Given the description of an element on the screen output the (x, y) to click on. 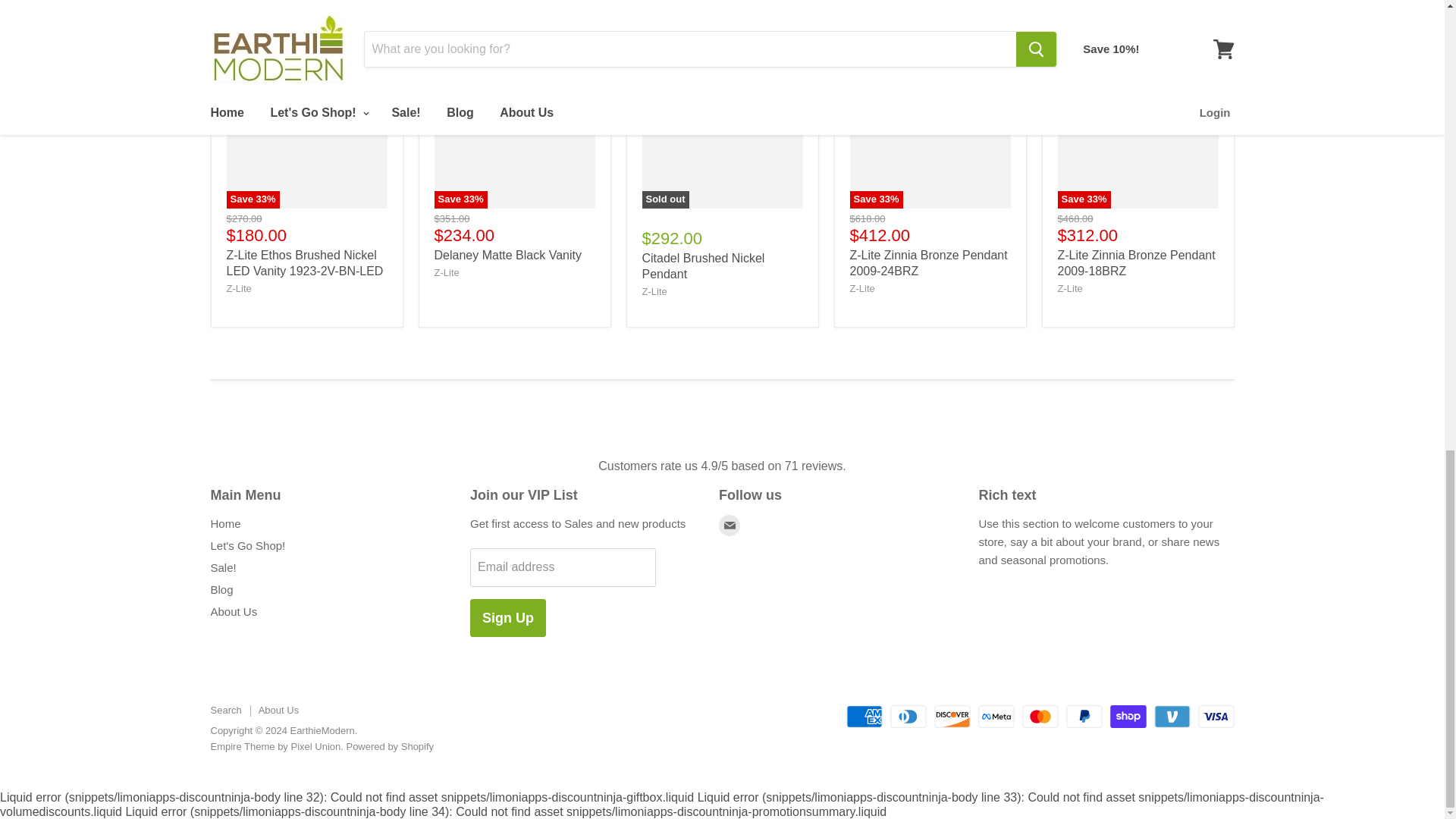
Meta Pay (996, 716)
E-mail (729, 524)
Venmo (1172, 716)
Diners Club (907, 716)
American Express (863, 716)
Visa (1216, 716)
PayPal (1083, 716)
Mastercard (1040, 716)
Discover (952, 716)
Shop Pay (1128, 716)
